Given the description of an element on the screen output the (x, y) to click on. 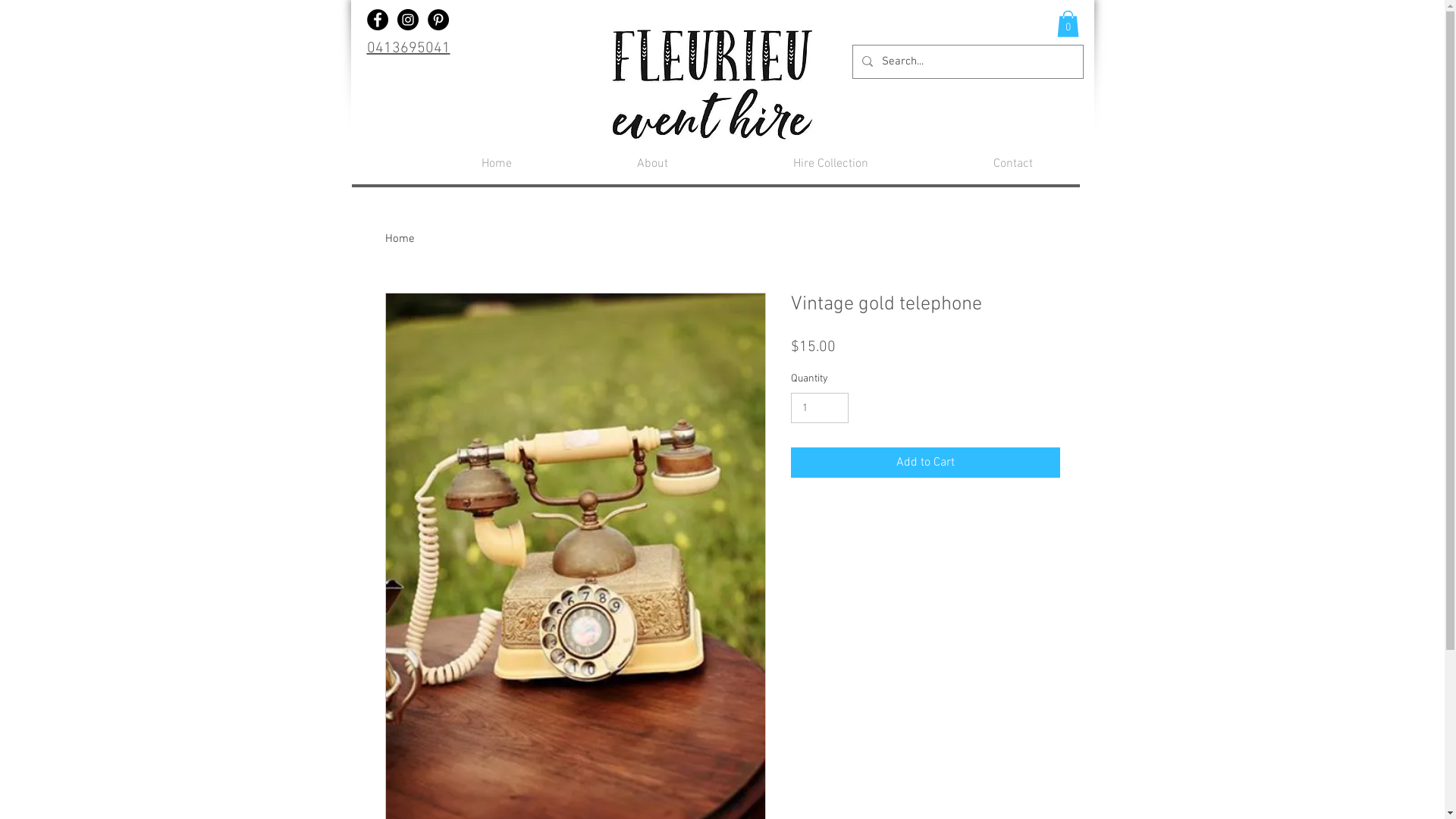
Home Element type: text (399, 238)
0413695041 Element type: text (408, 48)
About Element type: text (601, 164)
Add to Cart Element type: text (924, 462)
Contact Element type: text (961, 164)
Home Element type: text (445, 164)
0 Element type: text (1068, 23)
Hire Collection Element type: text (779, 164)
